Given the description of an element on the screen output the (x, y) to click on. 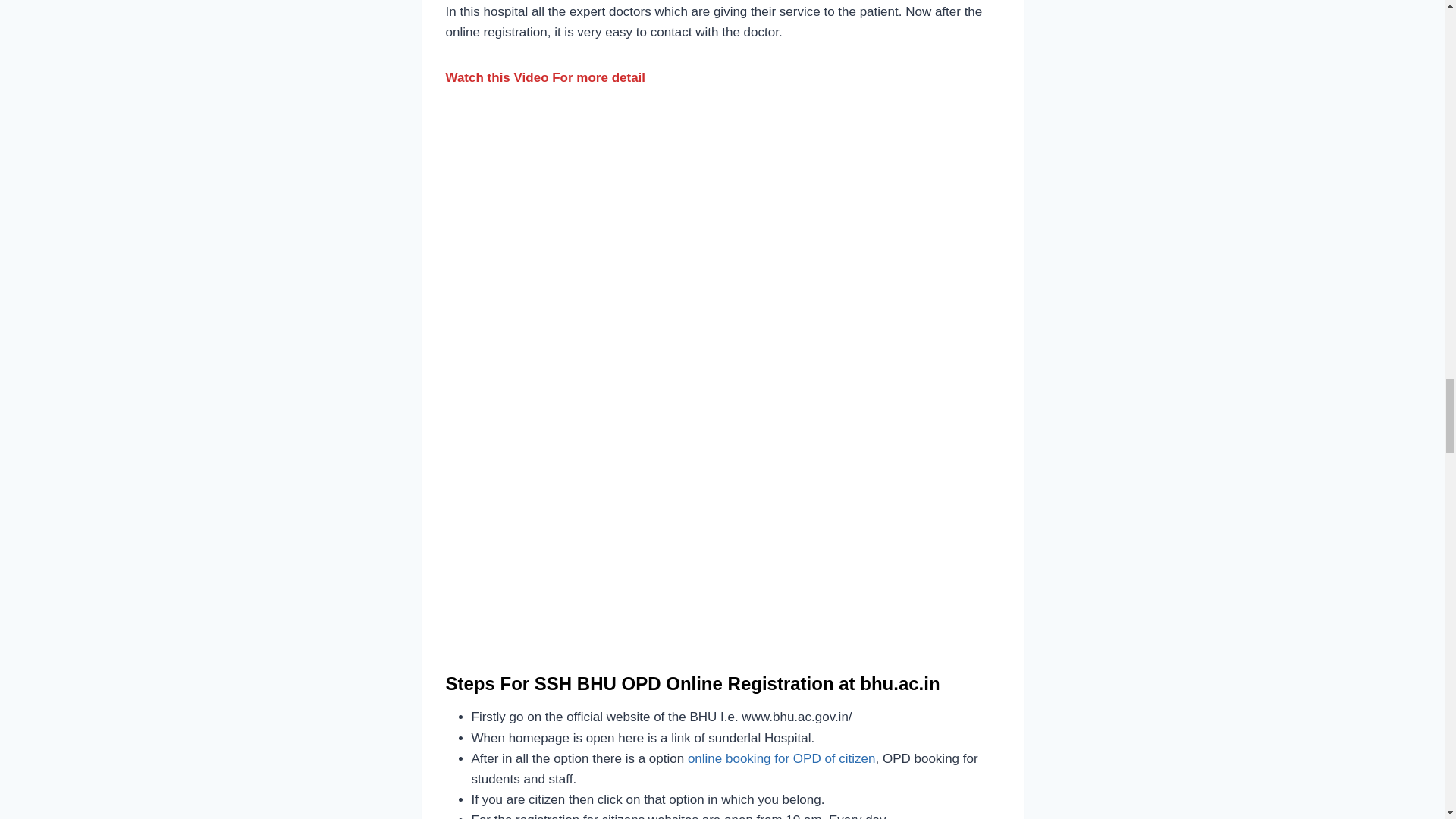
online booking for OPD of citizen (781, 758)
